Given the description of an element on the screen output the (x, y) to click on. 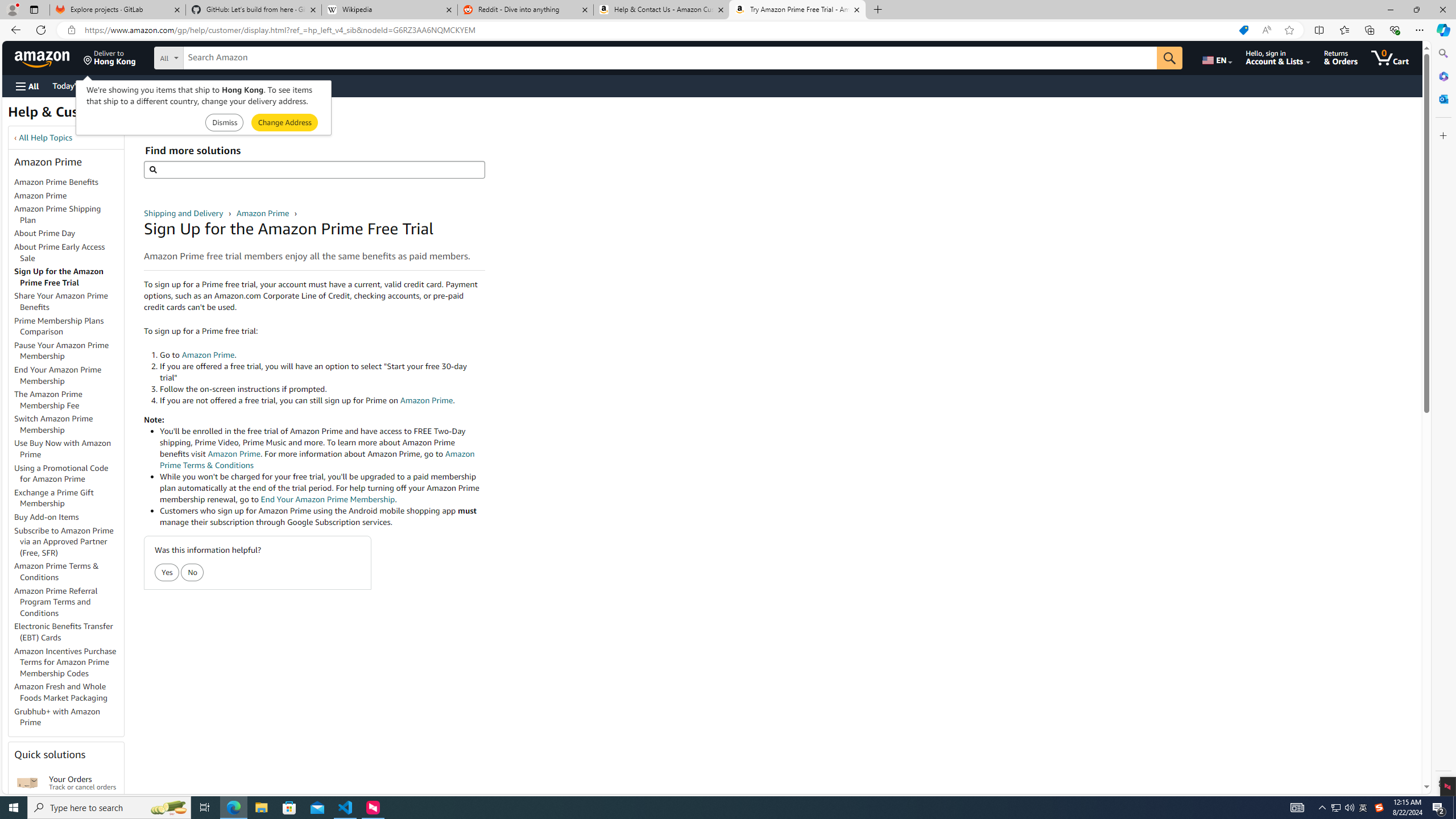
Pause Your Amazon Prime Membership (68, 350)
0 items in cart (1389, 57)
Using a Promotional Code for Amazon Prime (68, 473)
Amazon Prime Terms & Conditions (56, 571)
Search Amazon (670, 57)
No (192, 572)
Buy Add-on Items (46, 516)
Amazon Prime (68, 196)
Wikipedia (390, 9)
Go (1169, 57)
